Given the description of an element on the screen output the (x, y) to click on. 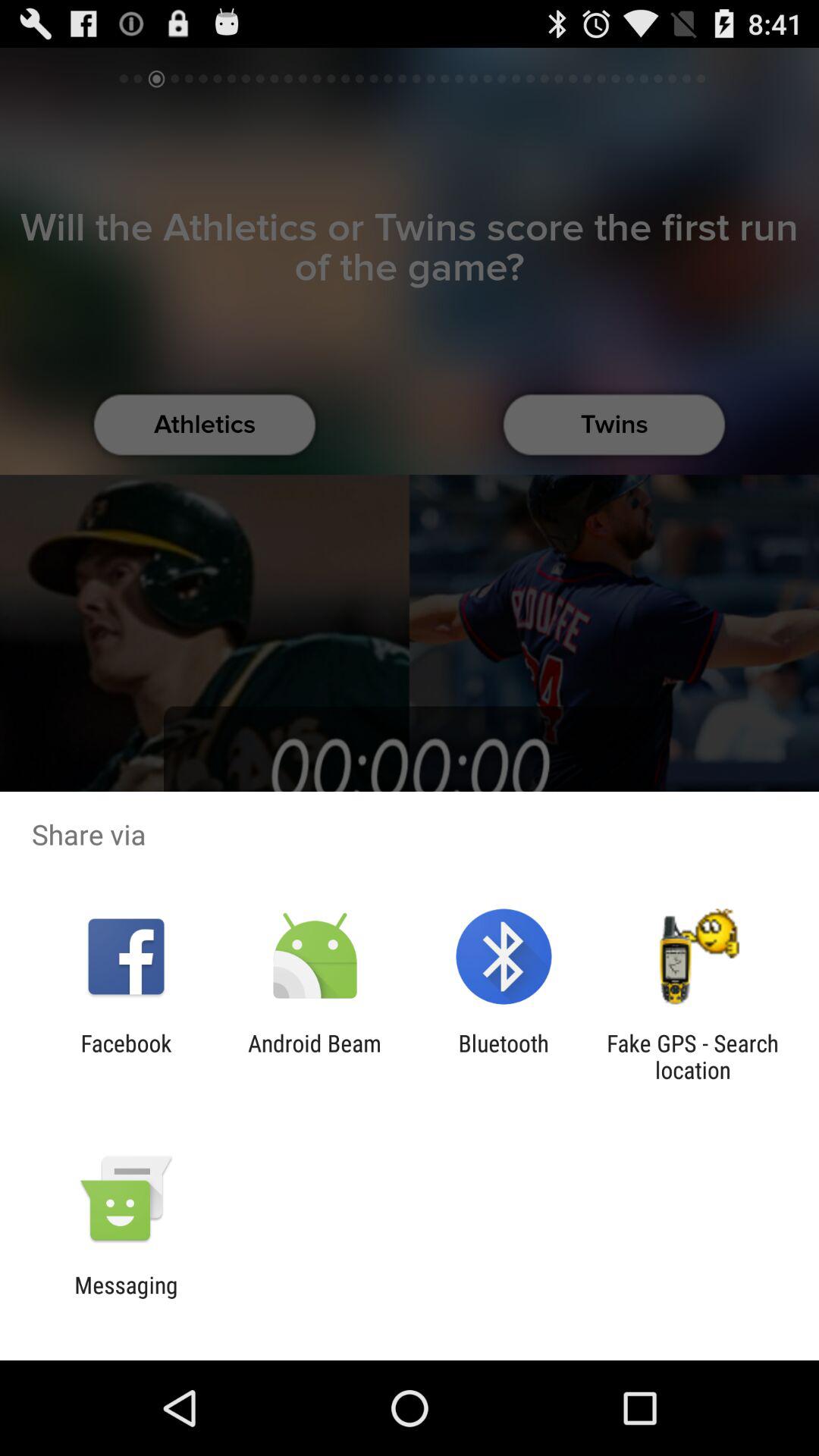
turn off app next to the facebook app (314, 1056)
